Given the description of an element on the screen output the (x, y) to click on. 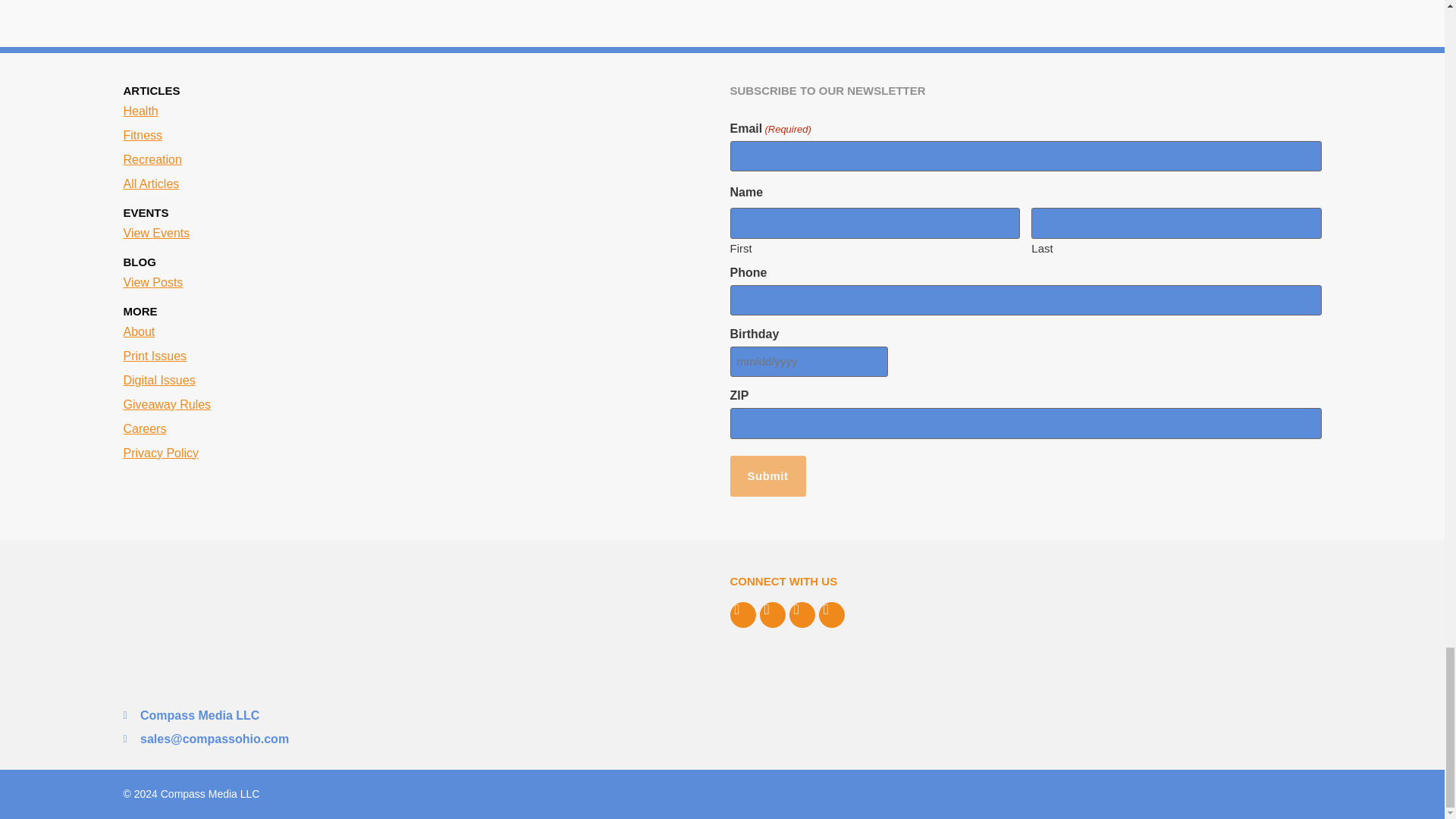
Submit (767, 476)
